Given the description of an element on the screen output the (x, y) to click on. 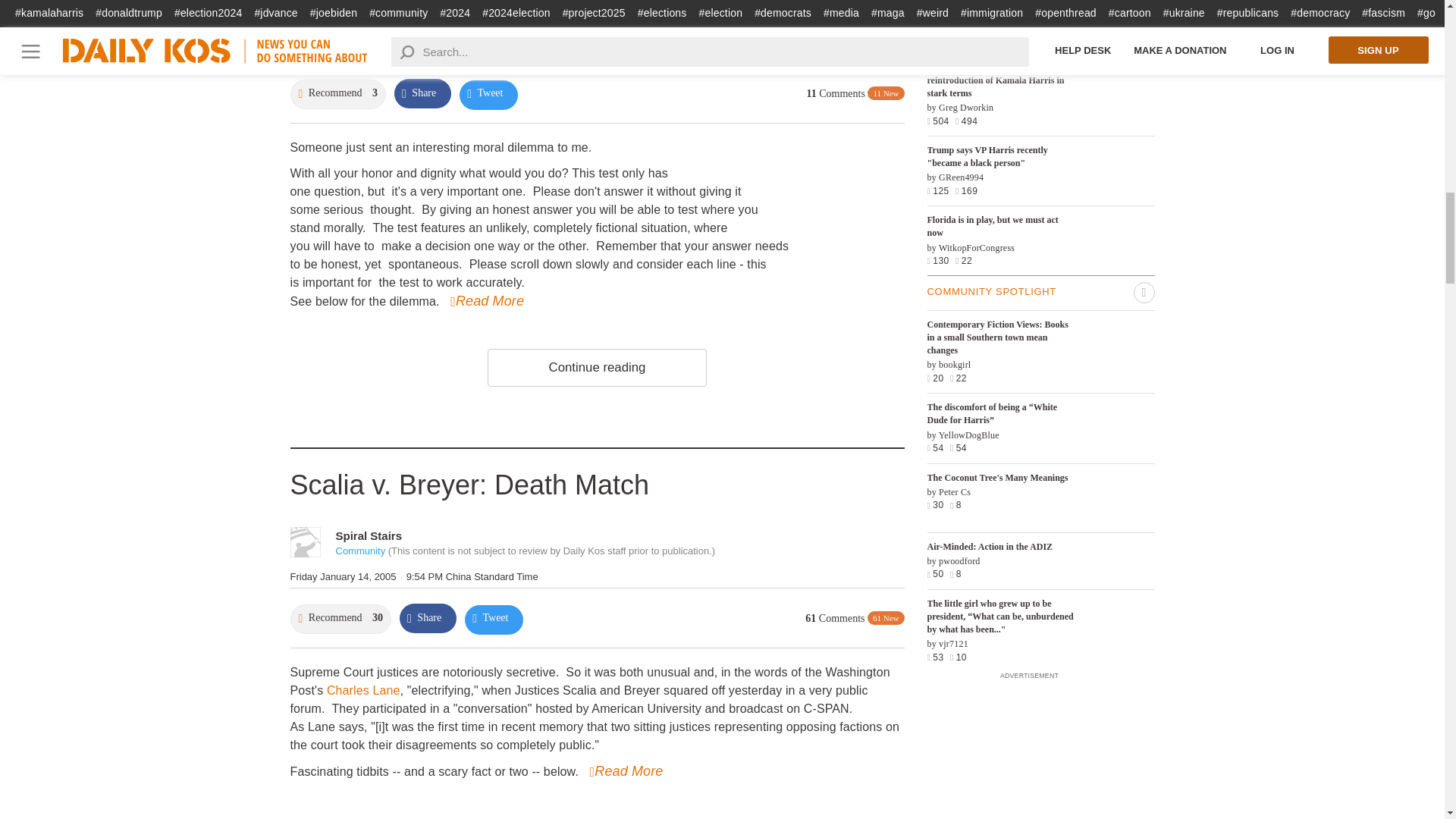
11 Comments 11 New (855, 93)
61 Comments 61 New (854, 618)
